Given the description of an element on the screen output the (x, y) to click on. 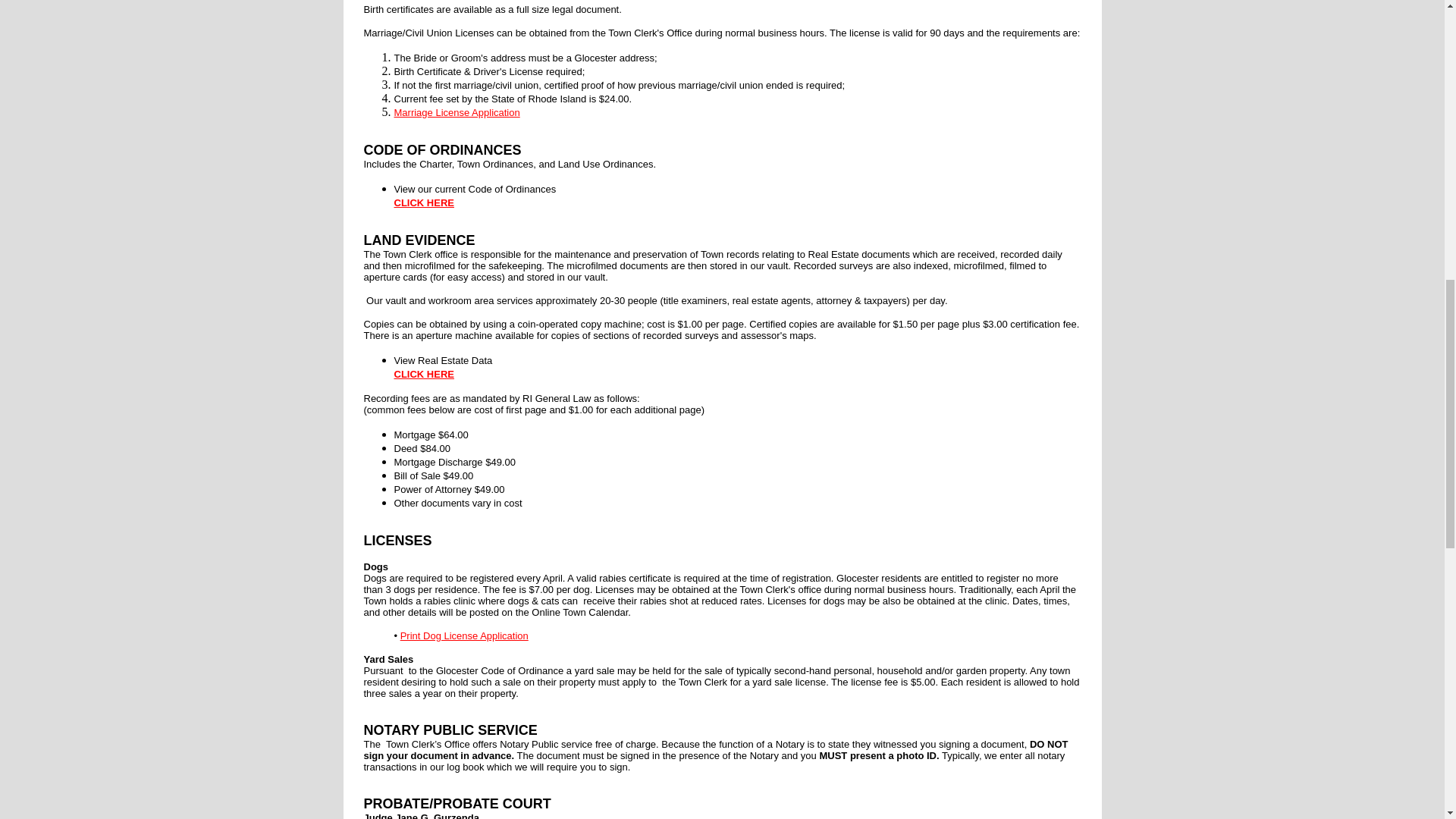
Print Dog License Application (464, 634)
Marriage License Application (456, 111)
CLICK HERE (424, 373)
CLICK HERE (424, 201)
